Given the description of an element on the screen output the (x, y) to click on. 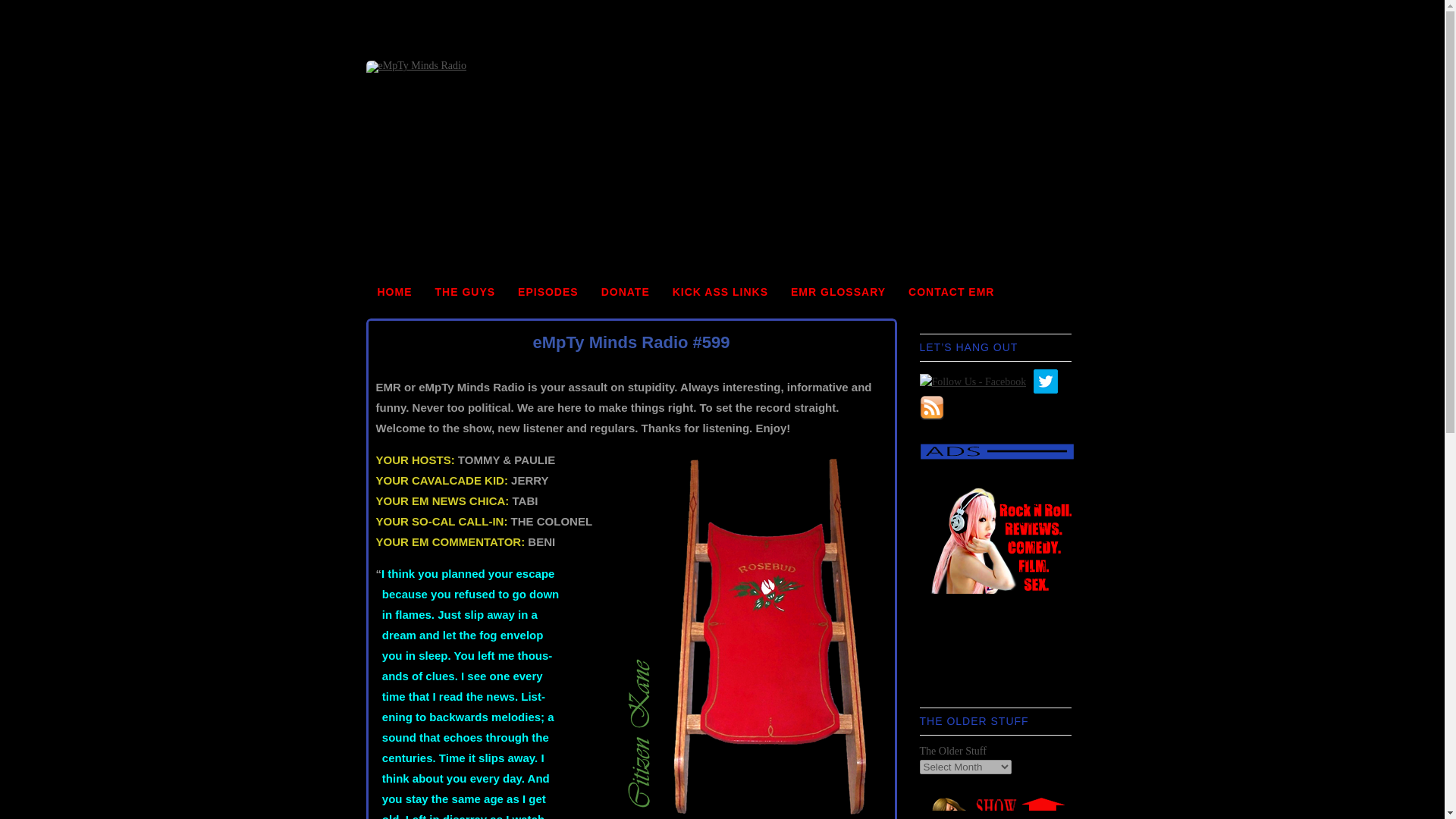
CONTACT EMR (951, 291)
DONATE (625, 291)
EMR GLOSSARY (837, 291)
HOME (394, 291)
Follow Us - RSS (930, 407)
THE GUYS (464, 291)
KICK ASS LINKS (719, 291)
Follow Us - Twitter (1045, 381)
Follow Us - Facebook (972, 381)
EPISODES (547, 291)
